Given the description of an element on the screen output the (x, y) to click on. 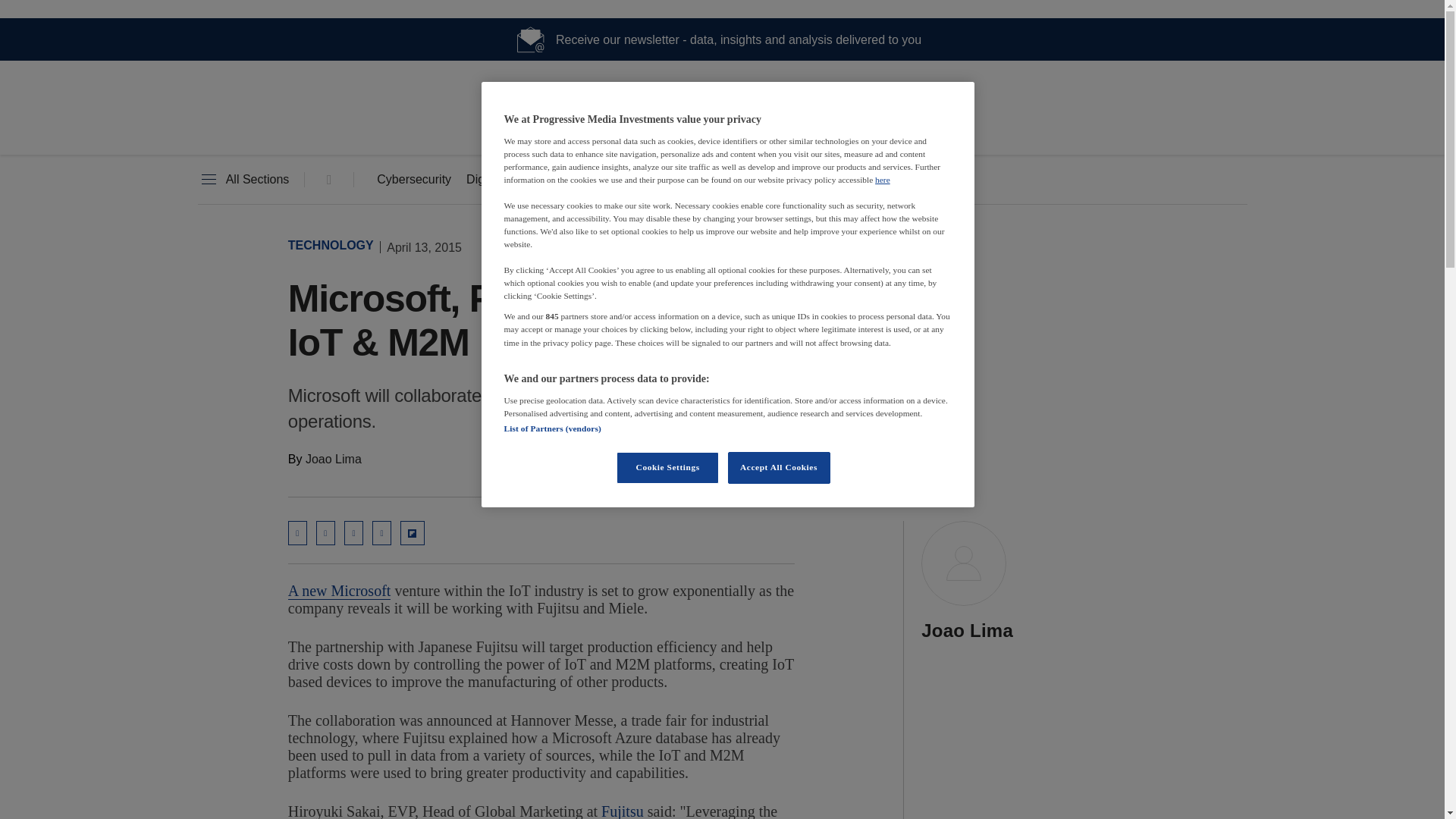
Events (783, 179)
Share on Flipboard (412, 532)
Cybersecurity (414, 179)
Digital economy (509, 179)
Tech Monitor (722, 128)
Leadership (701, 179)
Hardware (612, 179)
All Sections (242, 179)
